Given the description of an element on the screen output the (x, y) to click on. 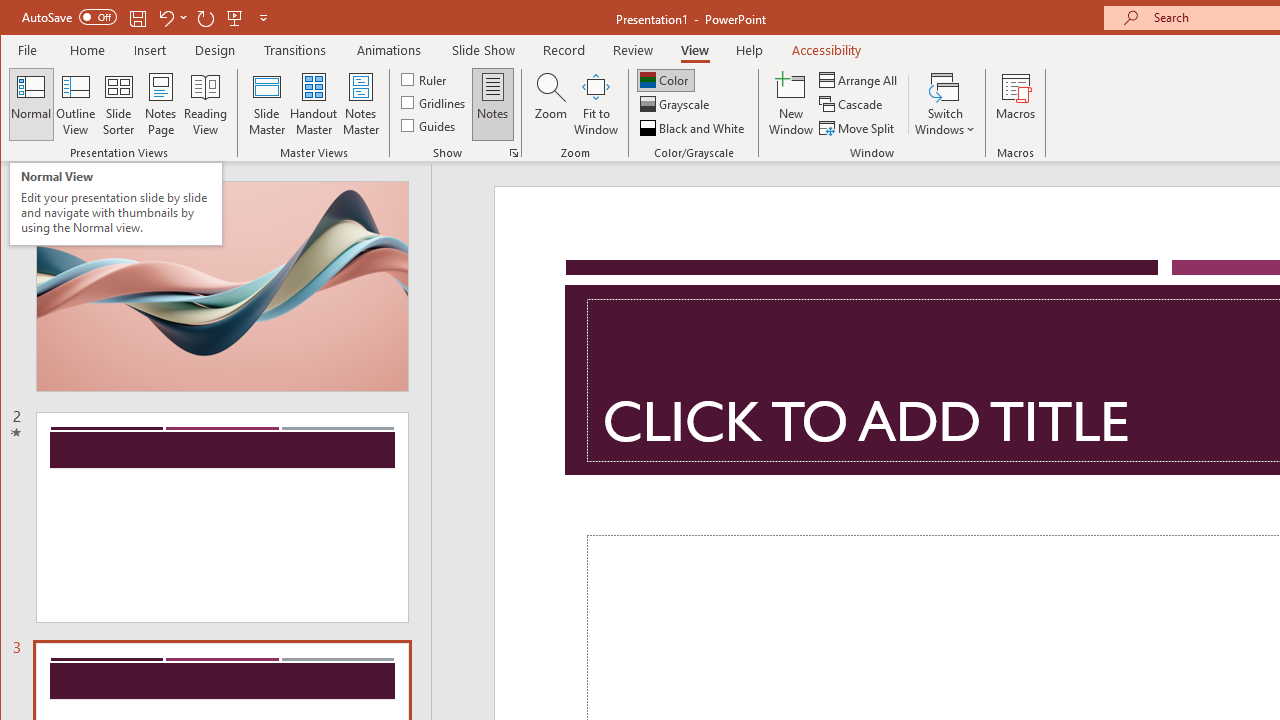
Color (666, 80)
Arrange All (859, 80)
